Given the description of an element on the screen output the (x, y) to click on. 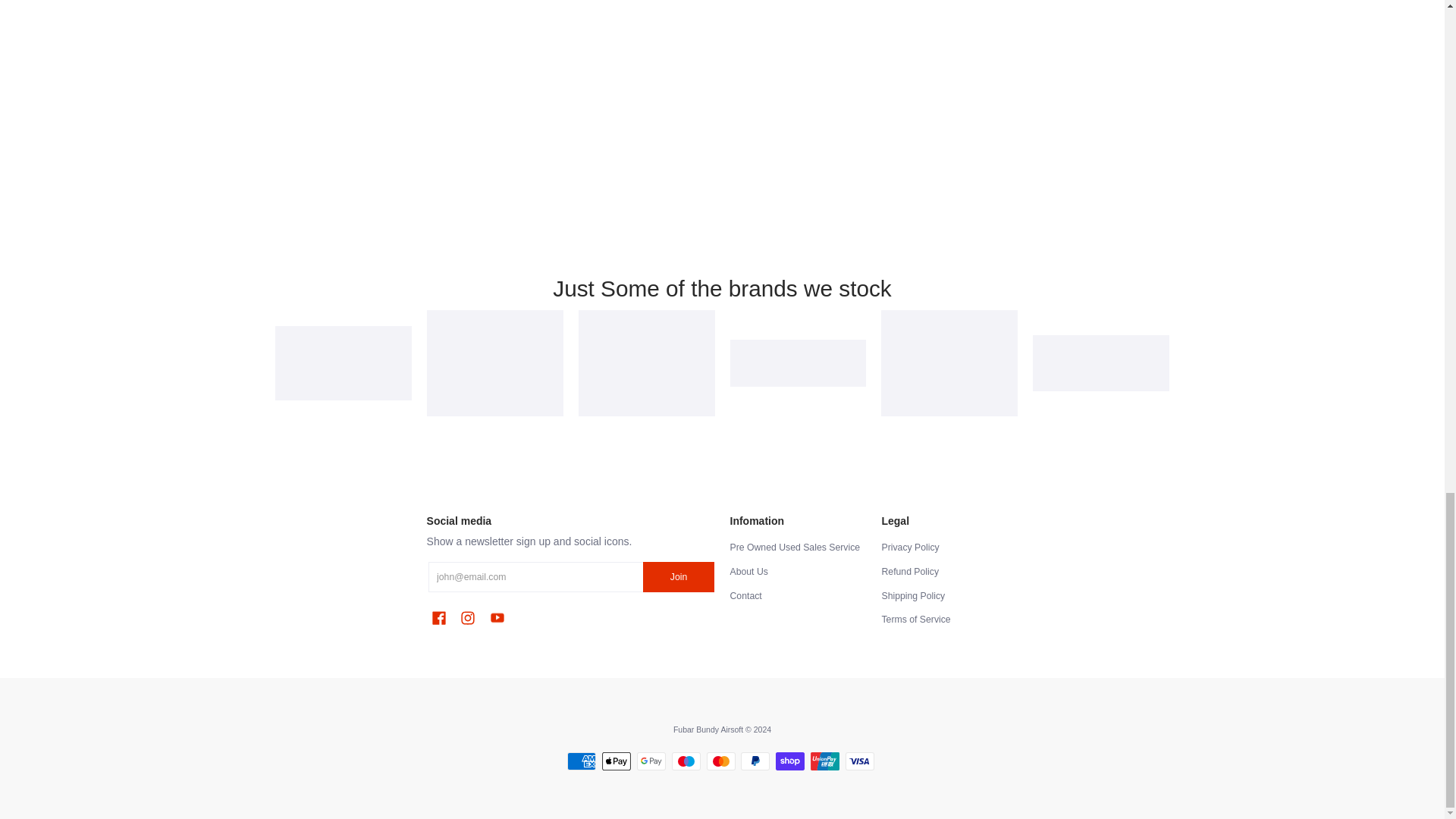
PayPal (755, 761)
Google Pay (651, 761)
Union Pay (825, 761)
Maestro (685, 761)
American Express (581, 761)
Mastercard (720, 761)
Apple Pay (616, 761)
Shop Pay (790, 761)
Visa (860, 761)
